Given the description of an element on the screen output the (x, y) to click on. 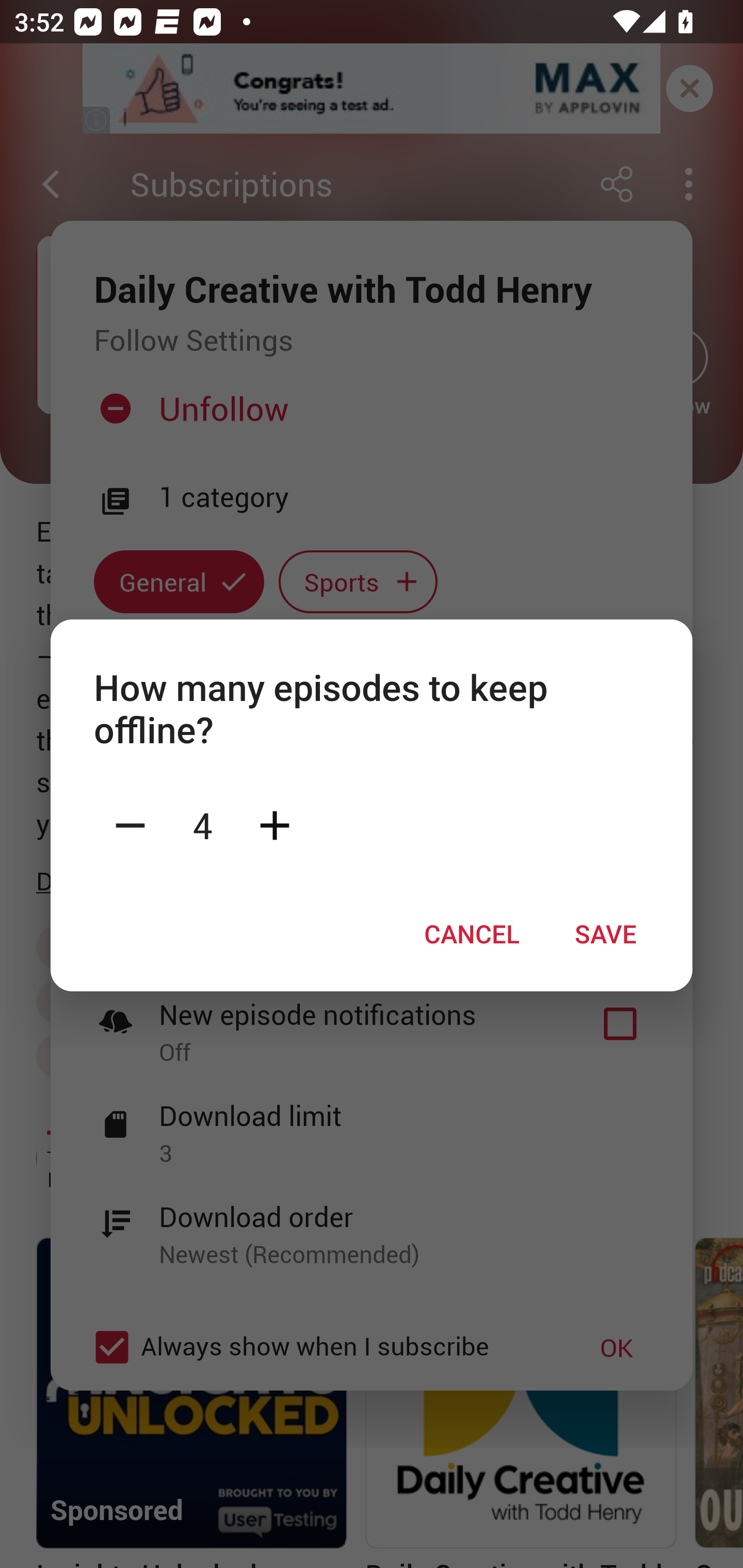
Minus (129, 824)
Plus (274, 824)
CANCEL (470, 933)
SAVE (605, 933)
